Given the description of an element on the screen output the (x, y) to click on. 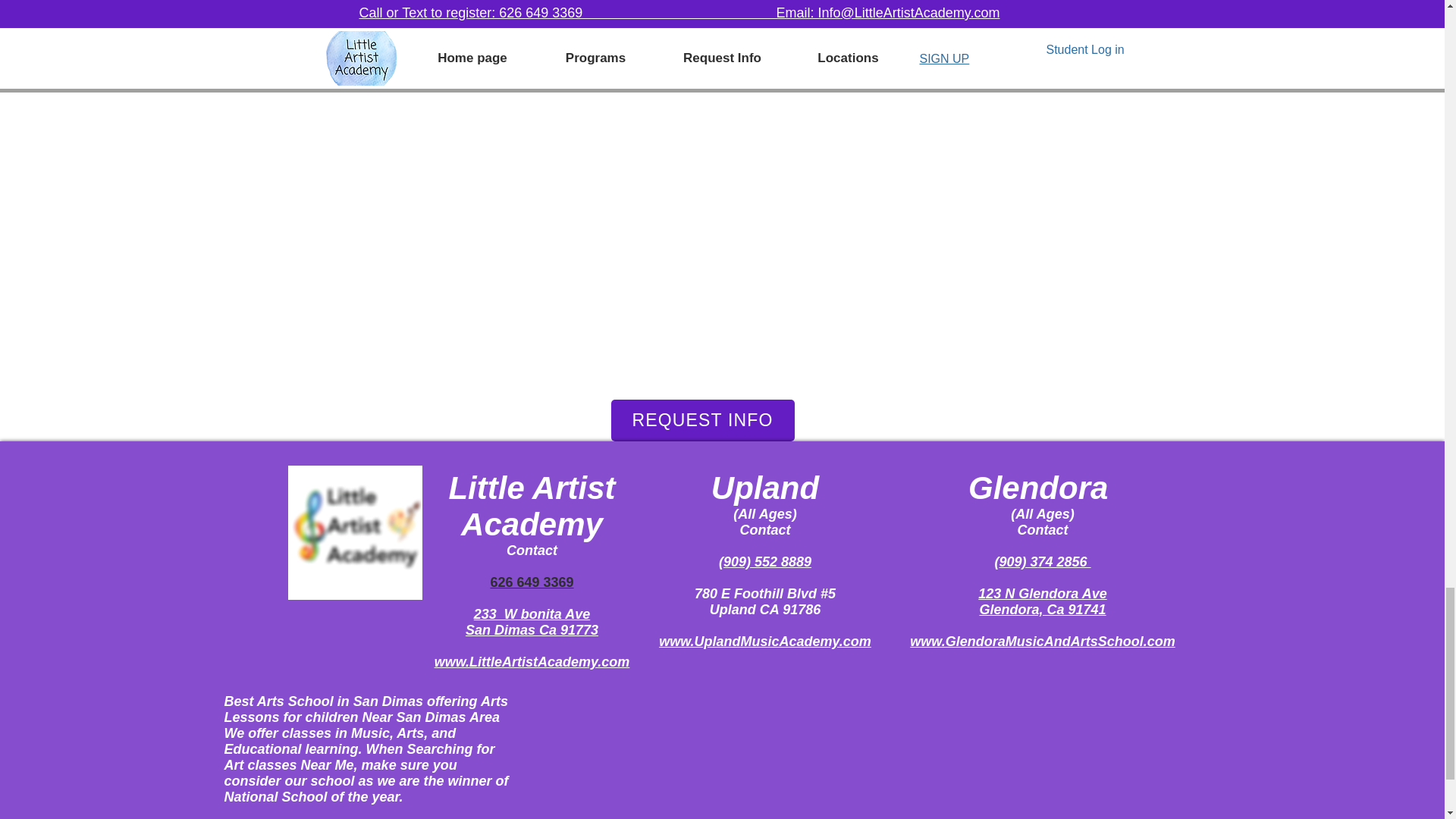
0 (681, 43)
0 (926, 43)
0 (435, 43)
Post not marked as liked (558, 43)
How to Set Up a Home Practice Space for Your Toddler (967, 2)
How Learning Music Makes Toddlers Smarter and Happier (476, 2)
Post not marked as liked (804, 43)
